Given the description of an element on the screen output the (x, y) to click on. 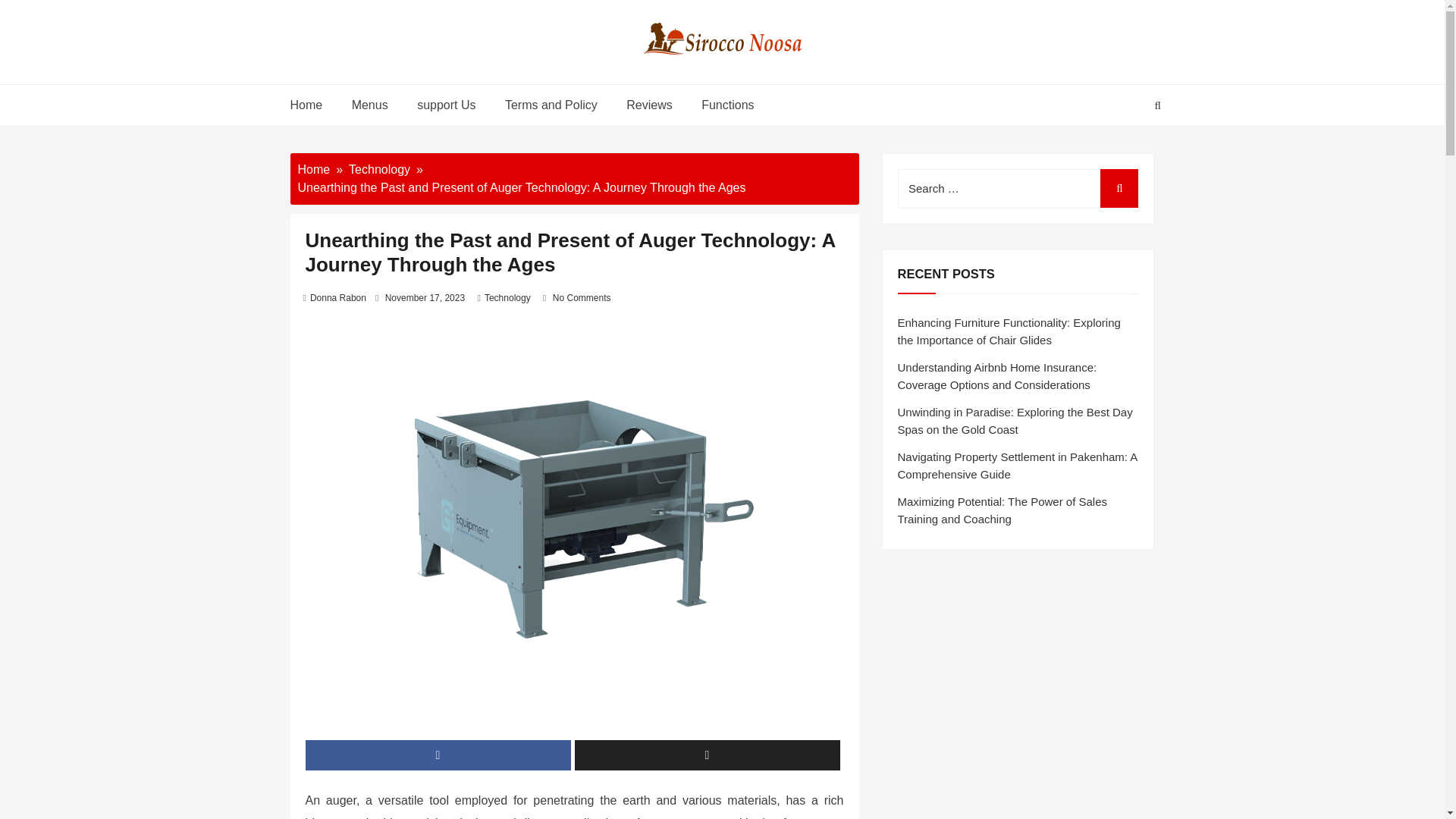
Home (313, 169)
Donna Rabon (338, 297)
Functions (724, 105)
No Comments (582, 297)
November 17, 2023 (424, 297)
Home (311, 105)
Menus (370, 105)
Terms and Policy (551, 105)
Technology (379, 169)
Technology (507, 297)
support Us (445, 105)
